Given the description of an element on the screen output the (x, y) to click on. 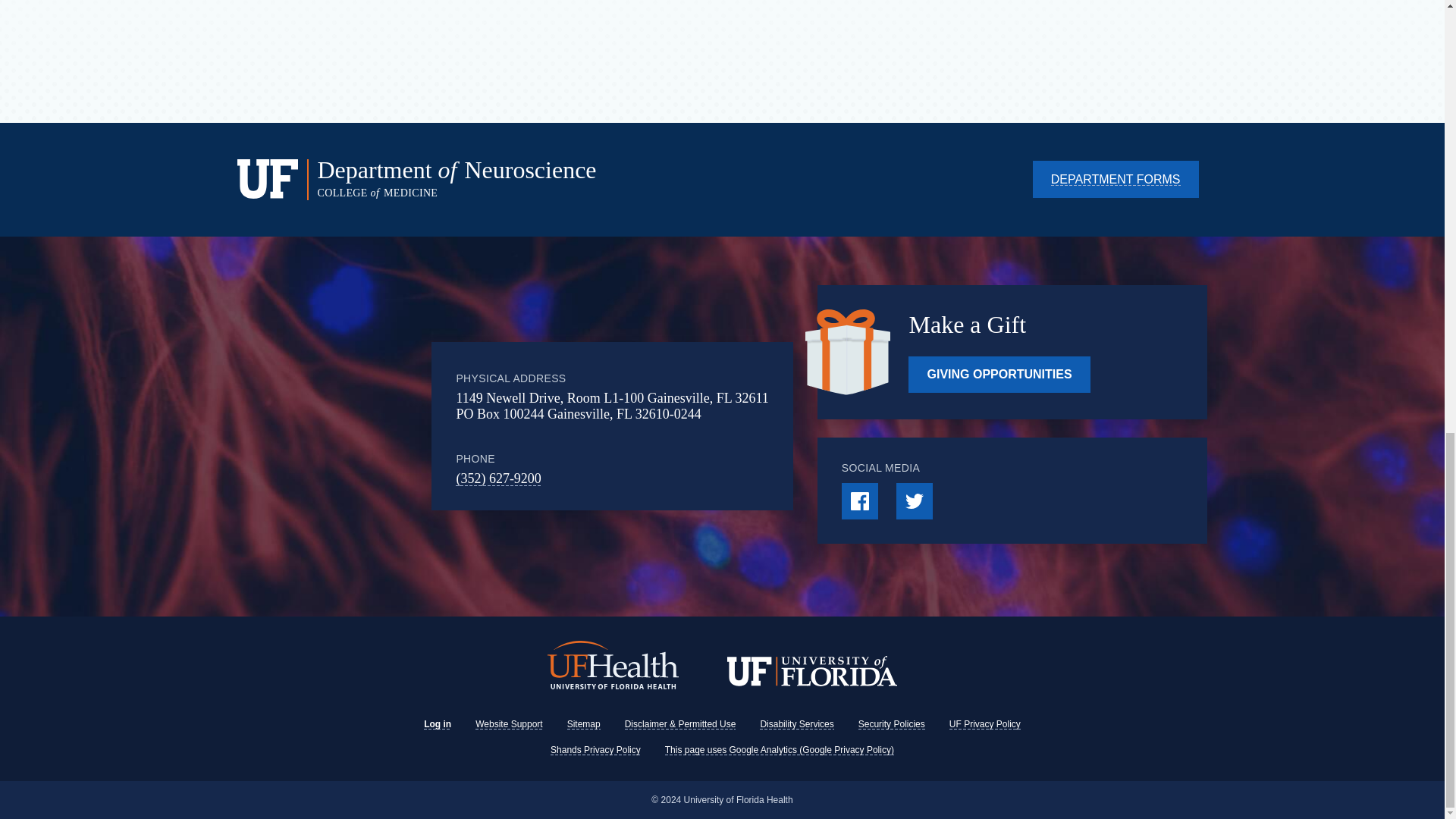
Disability Services (796, 724)
Google Maps Embed (381, 425)
UF Privacy Policy (984, 724)
Department Forms (1115, 179)
Log in (437, 724)
Security Policies (891, 724)
Website Support (509, 724)
Sitemap (583, 724)
Shands Privacy Policy (595, 749)
